Given the description of an element on the screen output the (x, y) to click on. 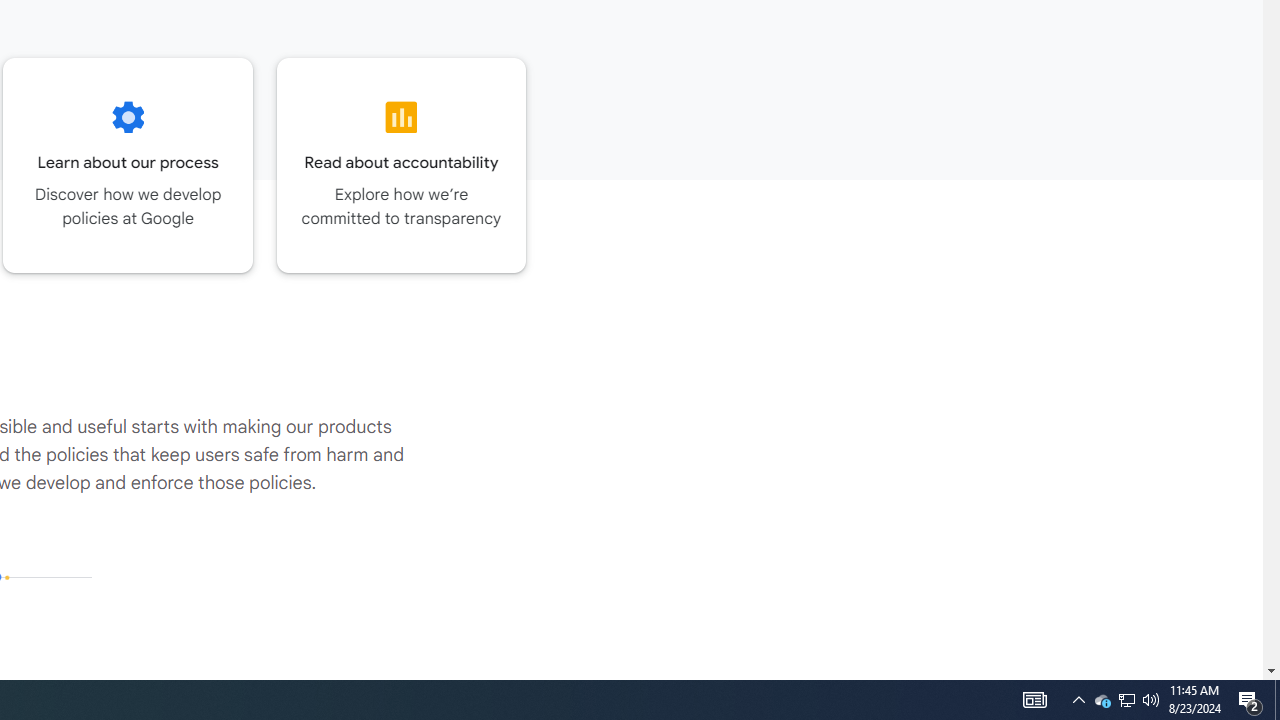
Go to the Our process page (127, 165)
Go to the Accountability page (401, 165)
